Given the description of an element on the screen output the (x, y) to click on. 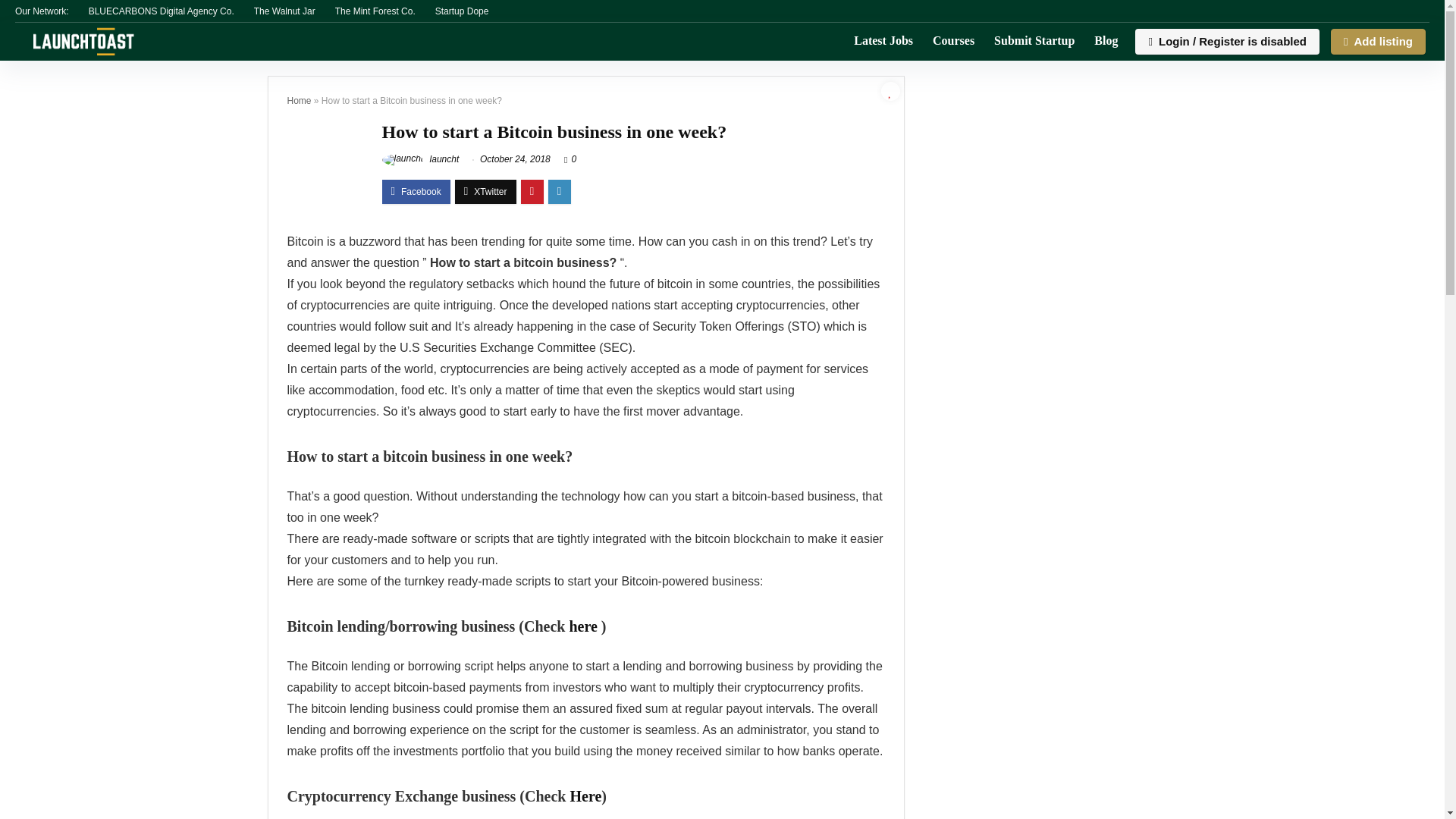
launcht (420, 158)
Blog (1105, 41)
Latest Jobs (883, 41)
Submit Startup (1034, 41)
The Mint Forest Co. (374, 10)
Our Network: (41, 10)
Add listing (1377, 41)
Courses (953, 41)
here (582, 626)
Startup Dope (462, 10)
The Walnut Jar (284, 10)
Here (585, 795)
Home (298, 100)
BLUECARBONS Digital Agency Co. (161, 10)
